Given the description of an element on the screen output the (x, y) to click on. 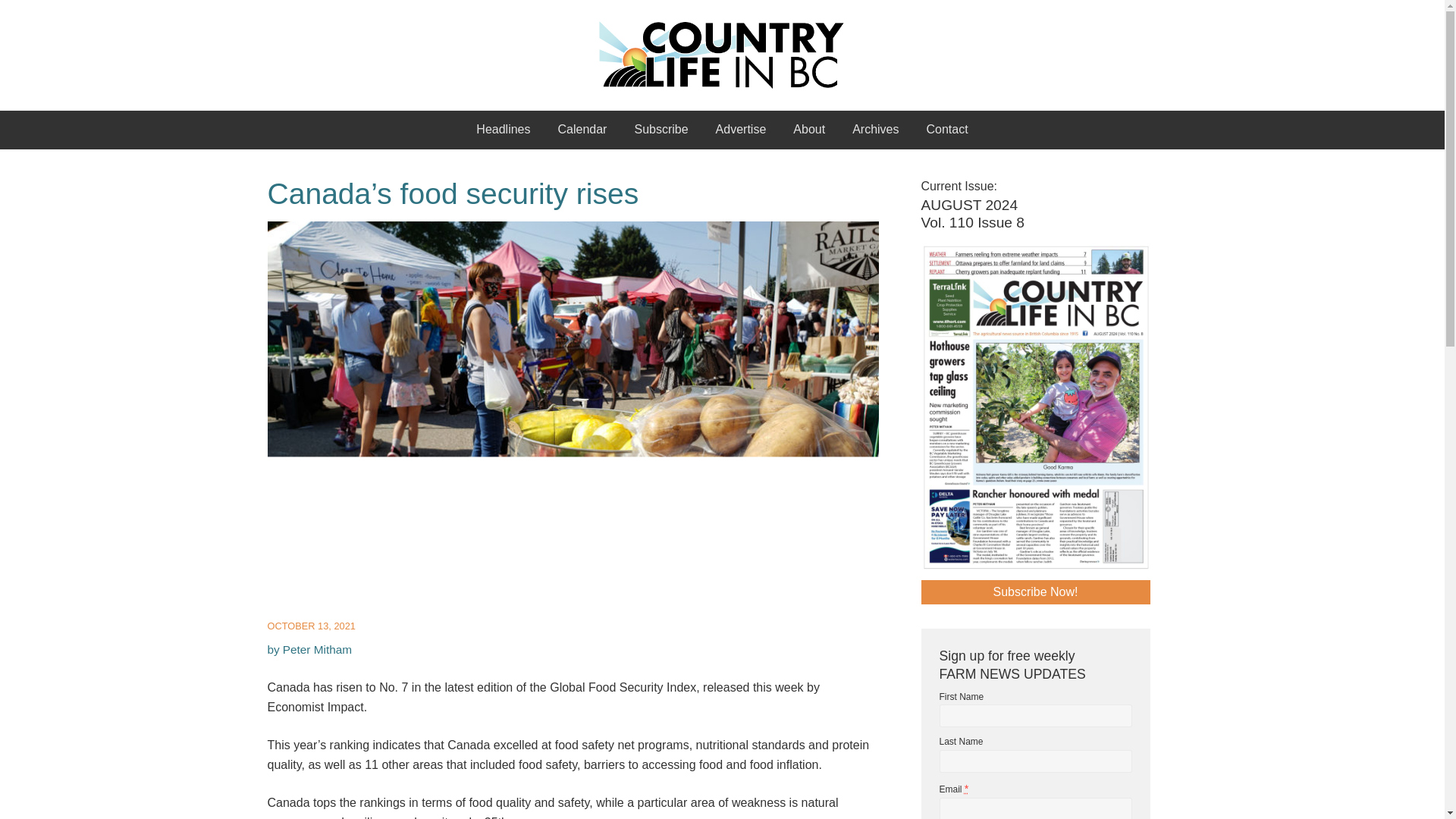
Archives (875, 129)
Subscribe Now! (1035, 591)
Headlines (503, 129)
Contact (946, 129)
About (808, 129)
Subscribe (660, 129)
Calendar (582, 129)
Advertise (740, 129)
